Given the description of an element on the screen output the (x, y) to click on. 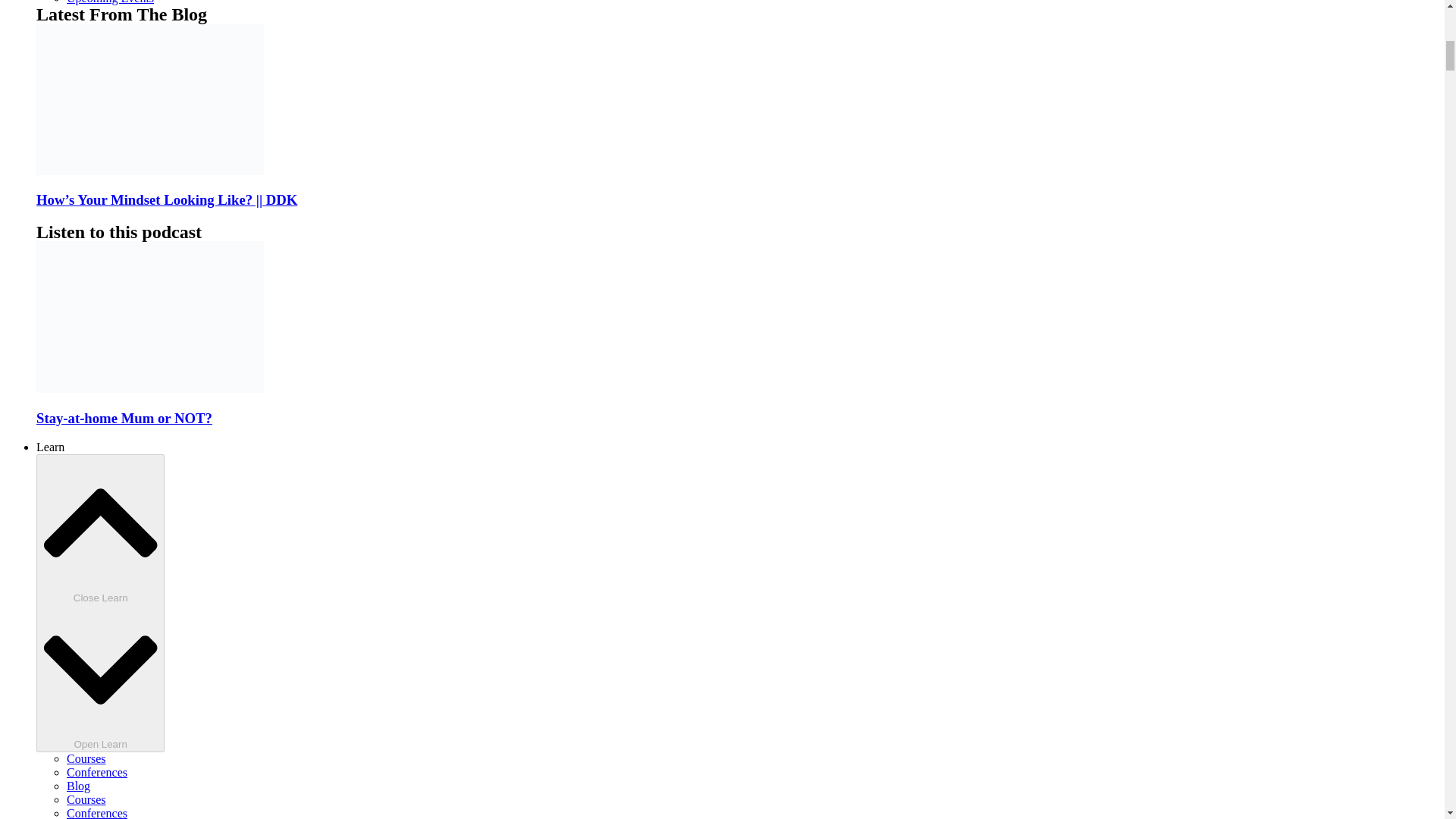
Conferences (97, 812)
Conferences (97, 771)
Courses (86, 758)
Courses (86, 799)
Upcoming Events (110, 2)
Stay-at-home Mum or NOT? (124, 417)
Blog (78, 785)
